Given the description of an element on the screen output the (x, y) to click on. 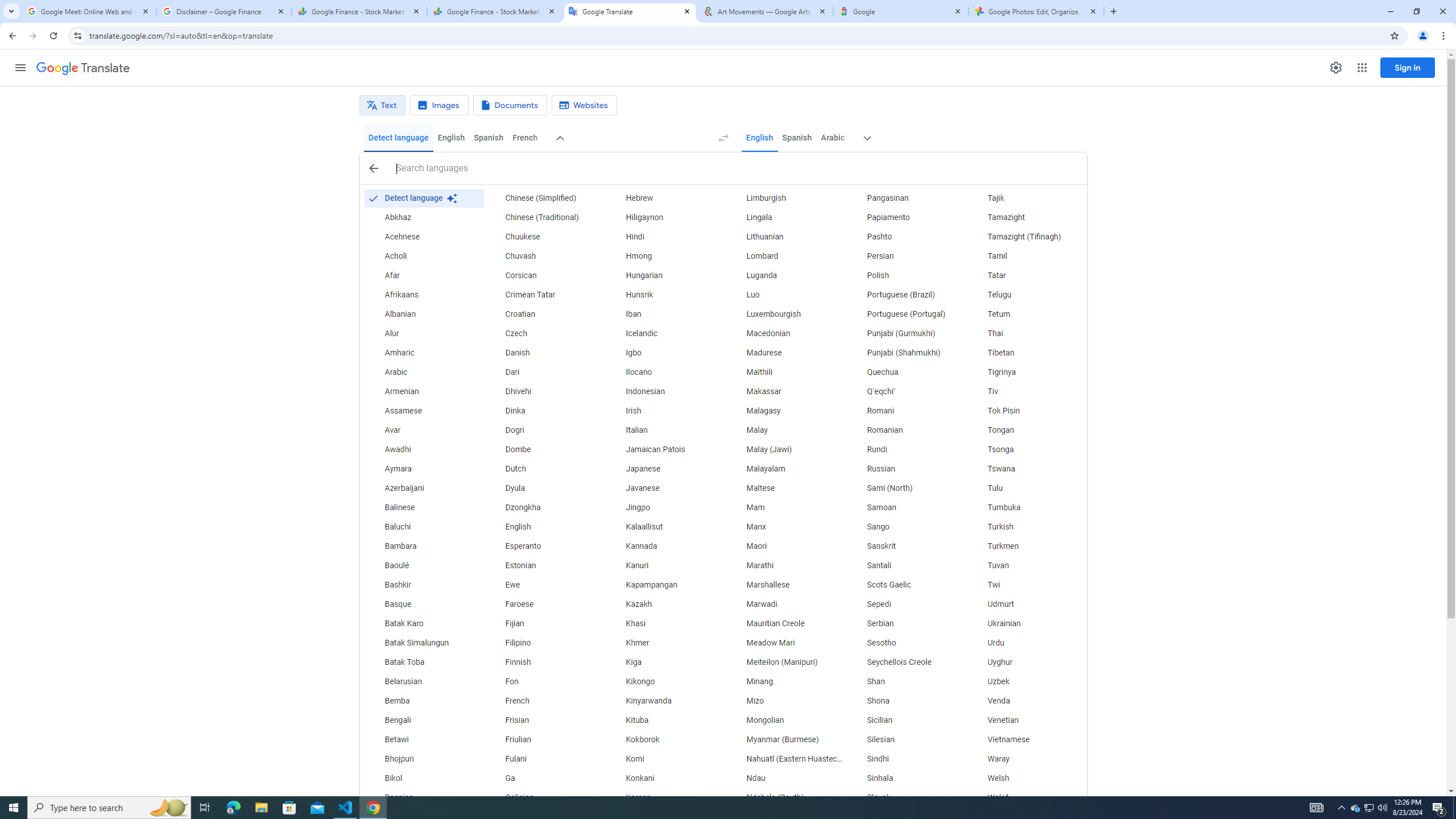
Tamazight (Tifinagh) (1026, 236)
Fulani (544, 759)
Mizo (785, 701)
Fon (544, 682)
Arabic (423, 372)
French (524, 137)
Dzongkha (544, 507)
Dhivehi (544, 391)
Detect language (398, 137)
Urdu (1026, 642)
Kikongo (665, 682)
Russian (905, 469)
Dari (544, 372)
Galician (544, 797)
Document translation (510, 105)
